Given the description of an element on the screen output the (x, y) to click on. 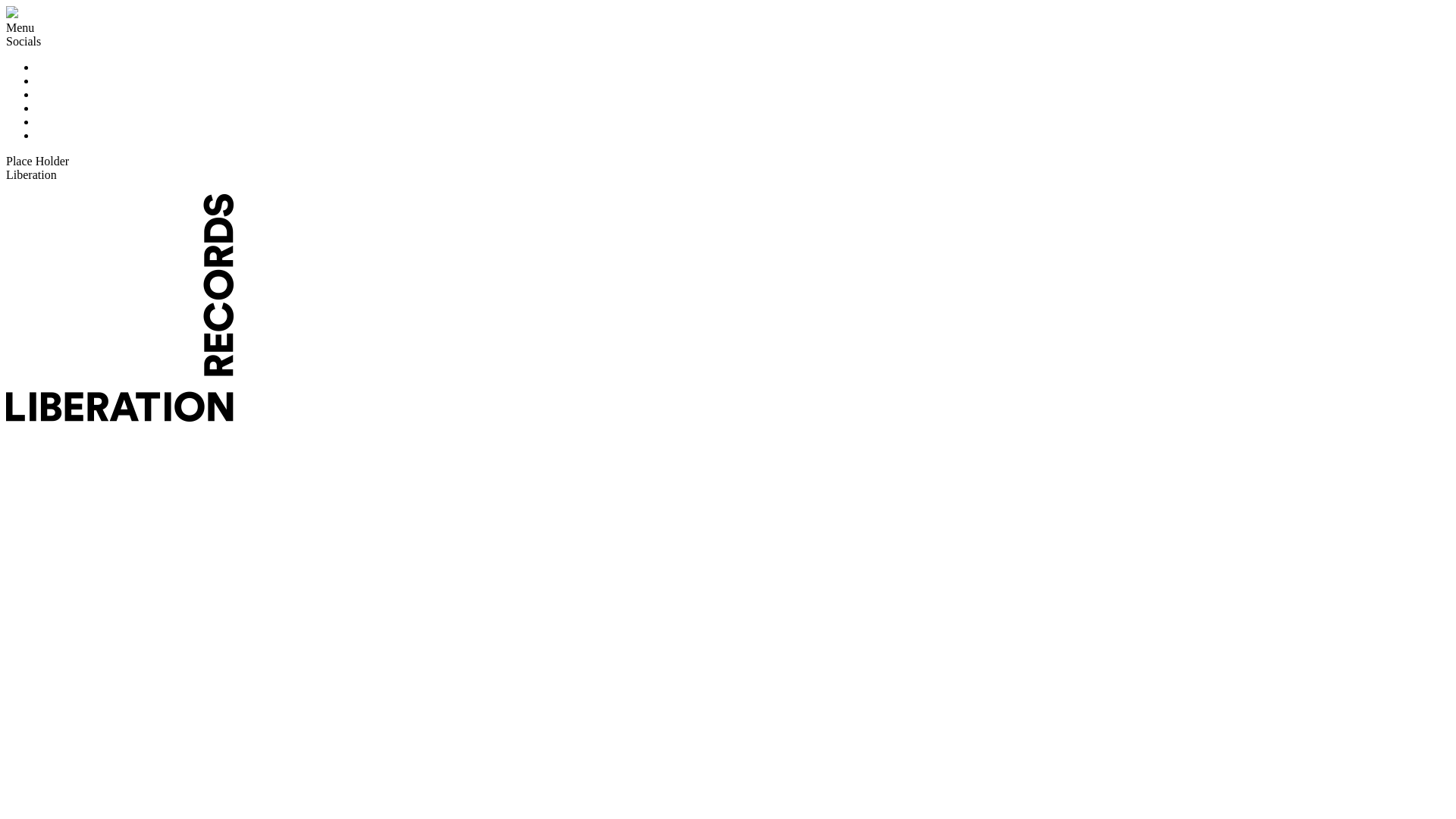
Liberation Records Element type: hover (12, 13)
Menu Element type: text (20, 27)
